Given the description of an element on the screen output the (x, y) to click on. 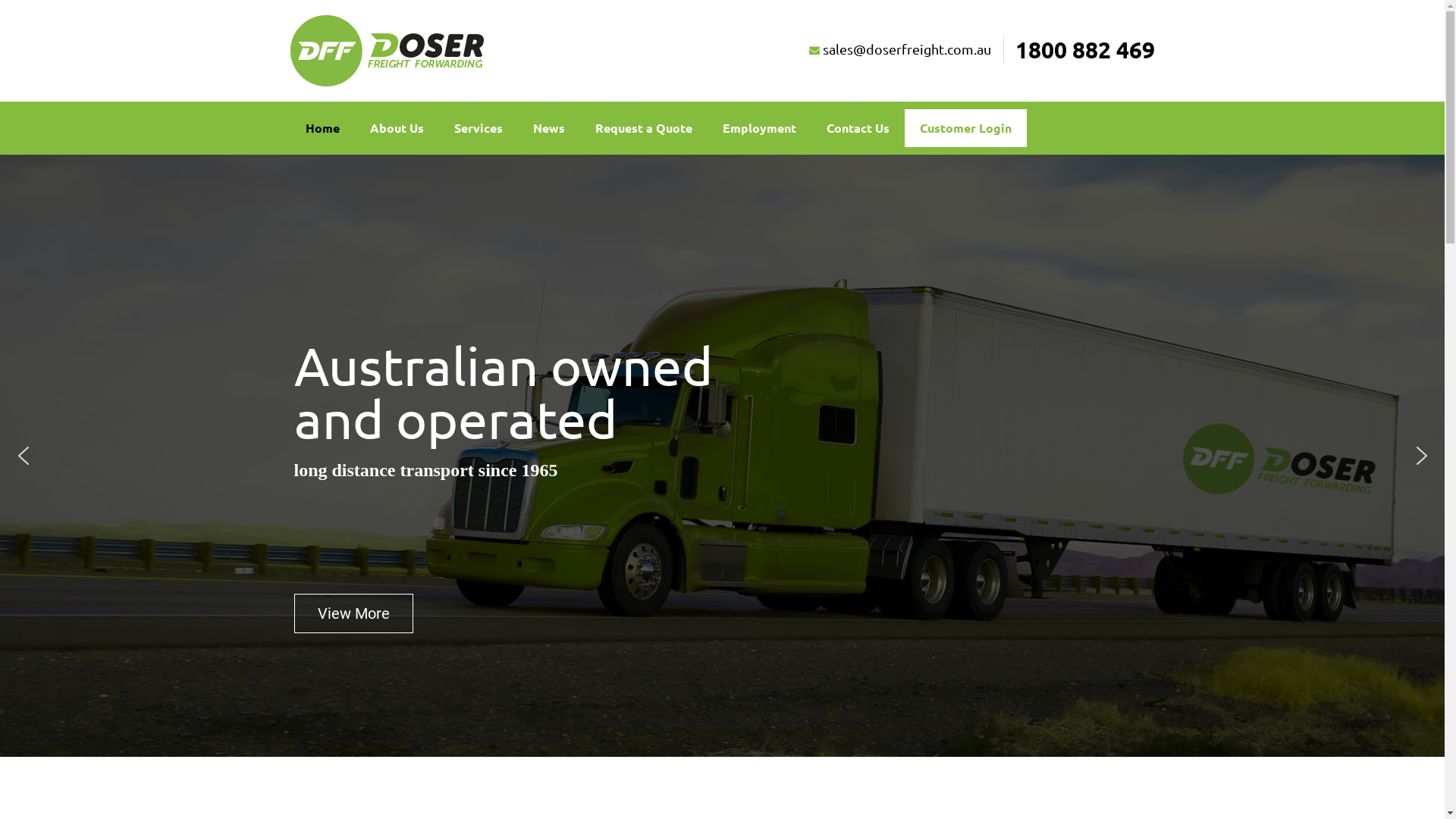
View More Element type: text (353, 613)
Employment Element type: text (758, 128)
1800 882 469 Element type: text (1078, 49)
Contact Us Element type: text (857, 128)
Home Element type: text (321, 128)
Request a Quote Element type: text (642, 128)
News Element type: text (548, 128)
sales@doserfreight.com.au Element type: text (899, 48)
Customer Login Element type: text (964, 128)
About Us Element type: text (396, 128)
Services Element type: text (477, 128)
